Given the description of an element on the screen output the (x, y) to click on. 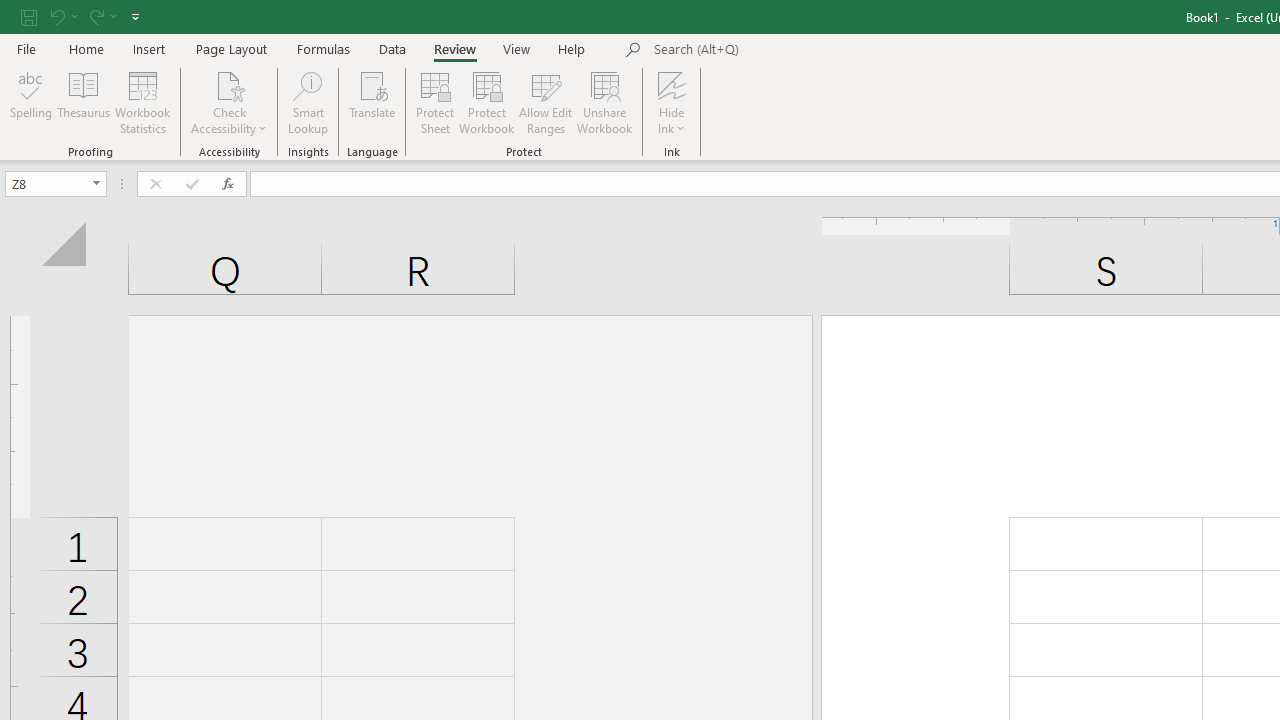
Thesaurus... (83, 102)
Unshare Workbook (604, 102)
Protect Workbook... (486, 102)
Translate (372, 102)
